Given the description of an element on the screen output the (x, y) to click on. 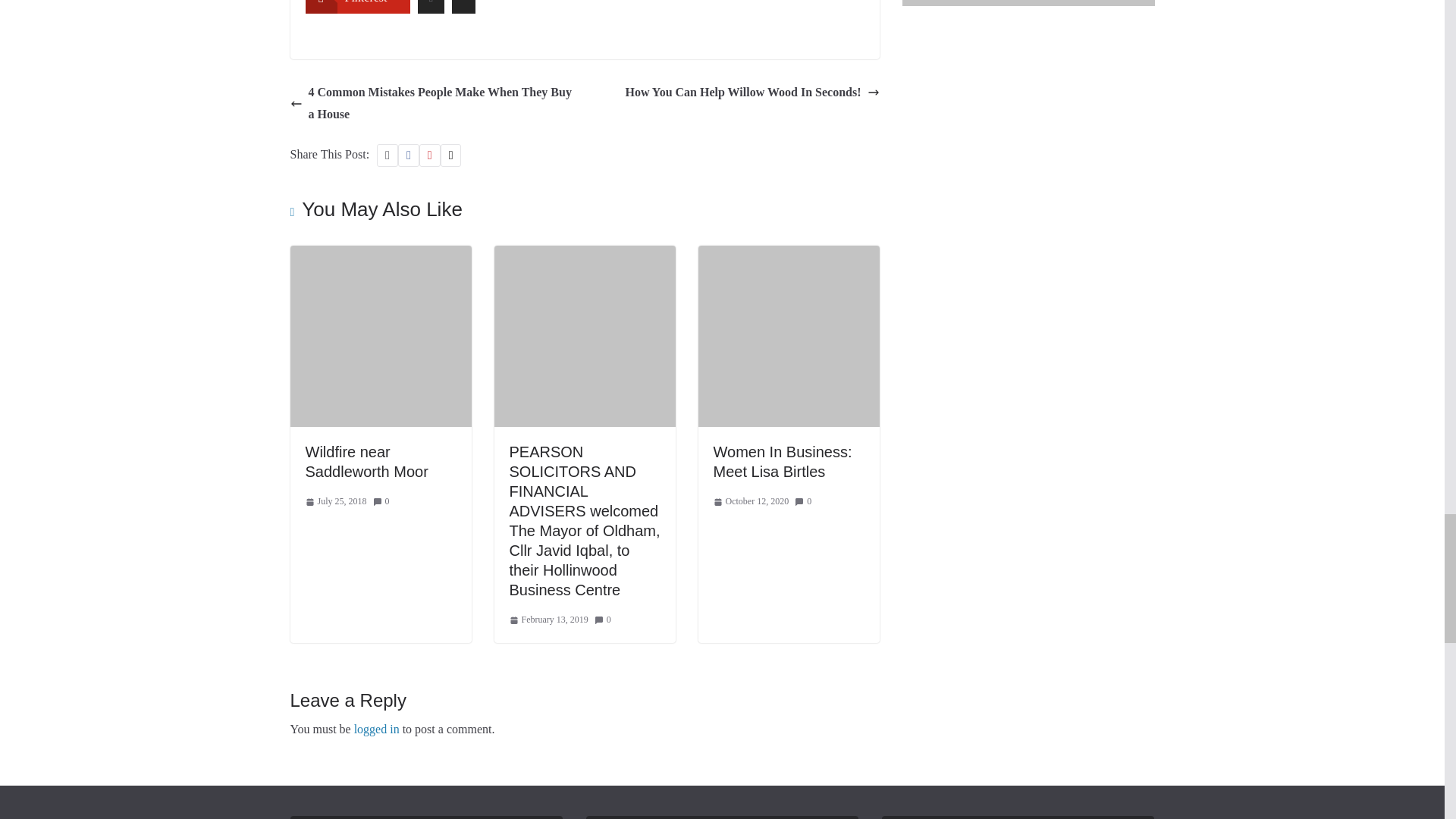
12:57 pm (335, 501)
How You Can Help Willow Wood In Seconds! (751, 92)
4 Common Mistakes People Make When They Buy a House (432, 103)
Wildfire near Saddleworth Moor (366, 461)
Pinterest (356, 6)
Wildfire near Saddleworth Moor (379, 255)
